Given the description of an element on the screen output the (x, y) to click on. 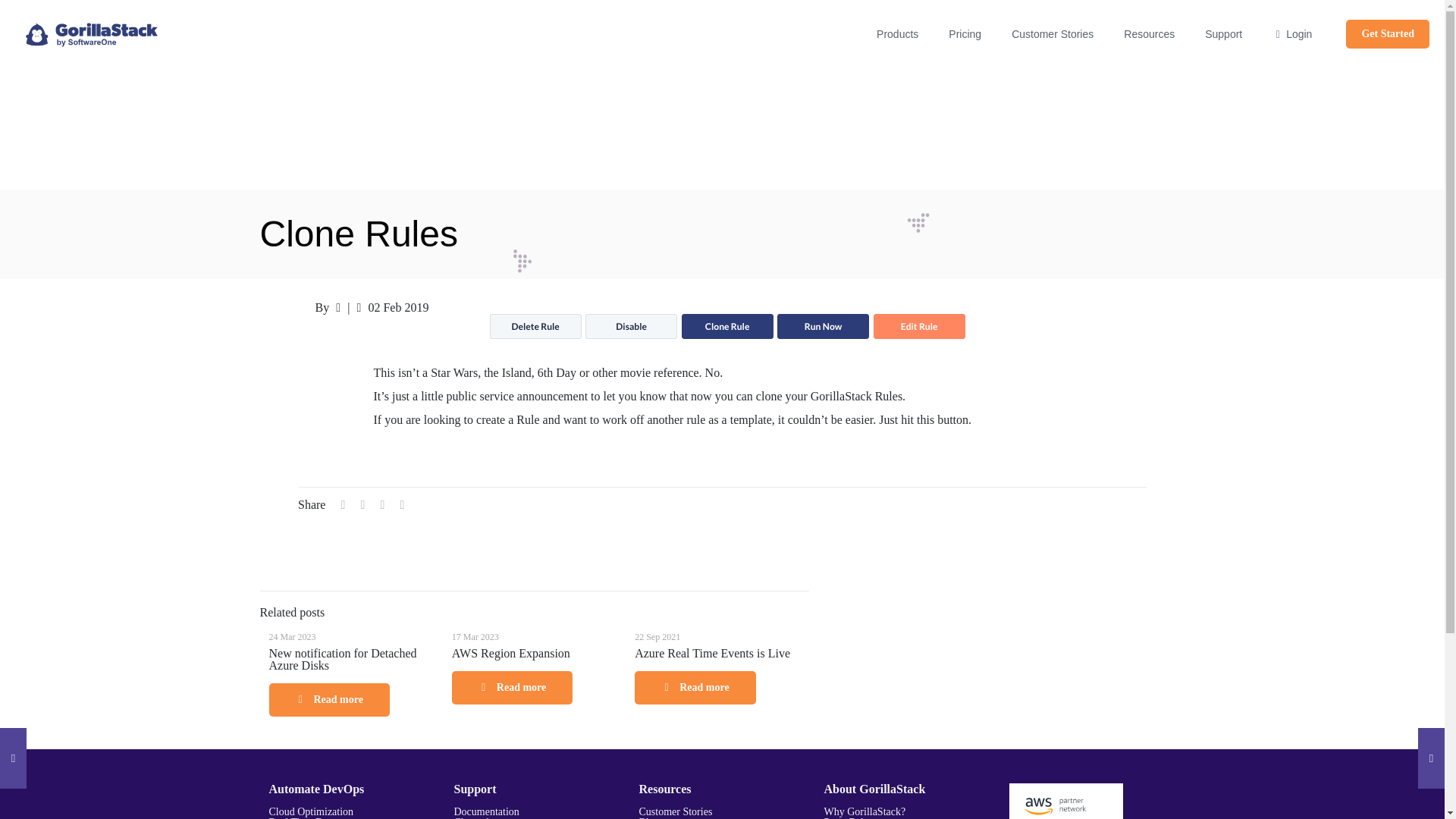
Support (1223, 33)
GorillaStack (90, 33)
Read more (327, 699)
Pricing (964, 33)
New notification for Detached Azure Disks (341, 659)
AWS Region Expansion (510, 653)
Login (1291, 33)
Get Started (1387, 33)
Customer Stories (1051, 33)
Products (897, 33)
